Given the description of an element on the screen output the (x, y) to click on. 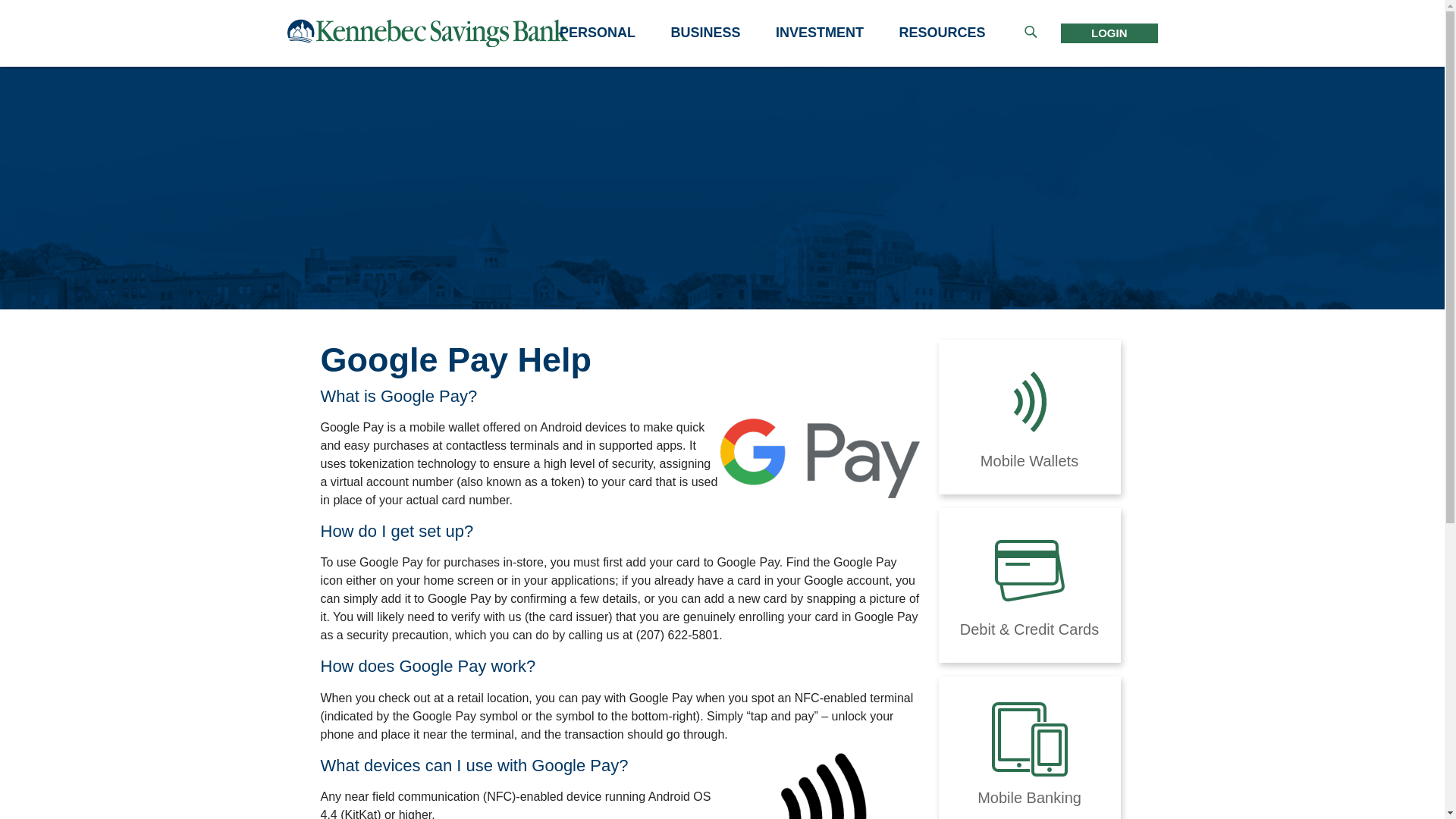
Debit & Credit Cards Element type: text (1029, 585)
Show the search bar Element type: hover (1029, 32)
PERSONAL Element type: text (597, 32)
INVESTMENT Element type: text (819, 32)
Google Pay Element type: hover (819, 458)
RESOURCES Element type: text (941, 32)
link to the home page Element type: hover (426, 31)
BUSINESS Element type: text (705, 32)
LOGIN Element type: text (1108, 33)
Mobile Wallets Element type: text (1029, 416)
